Given the description of an element on the screen output the (x, y) to click on. 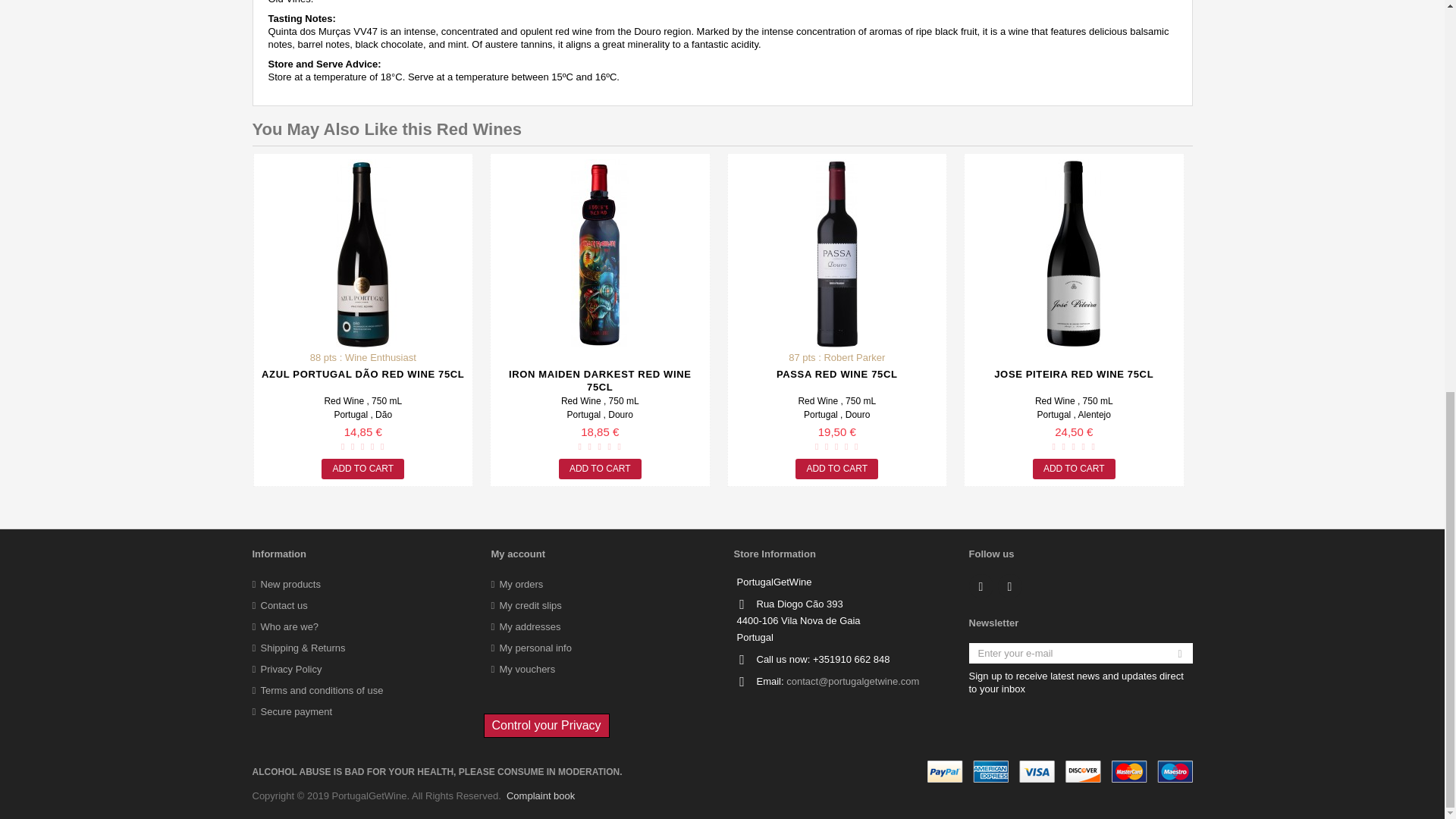
Enter your e-mail (1080, 652)
